Given the description of an element on the screen output the (x, y) to click on. 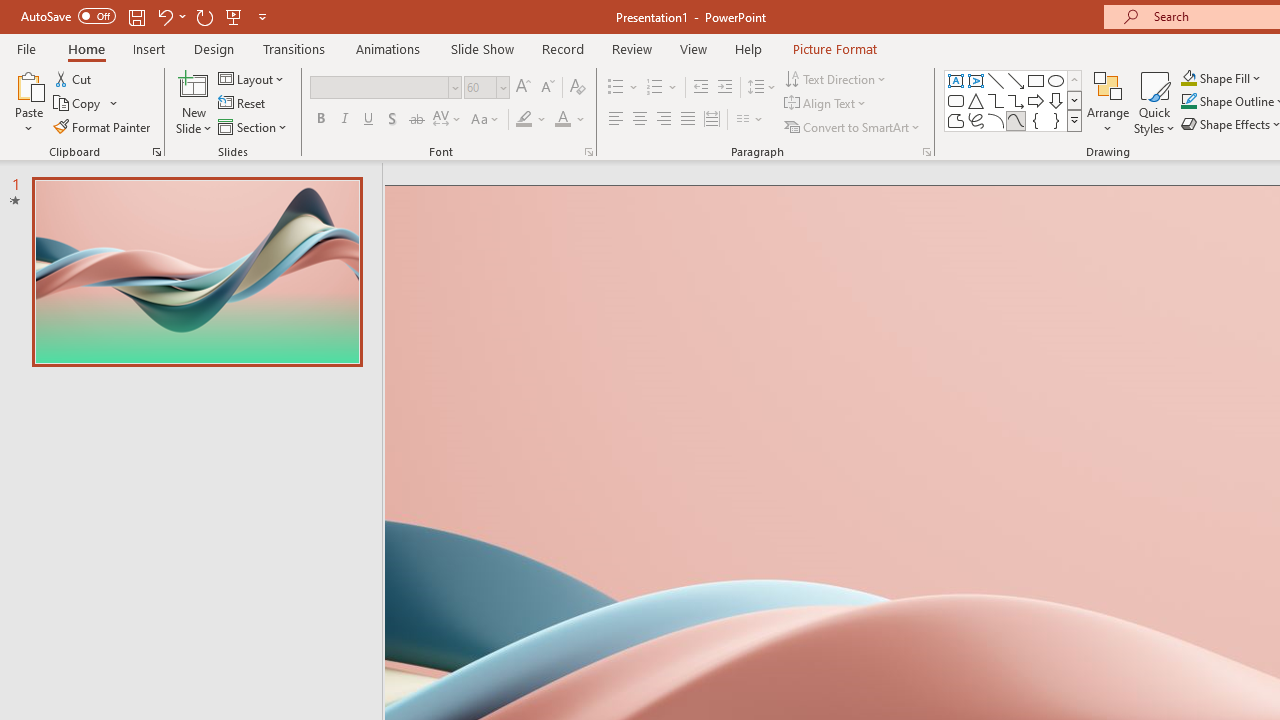
Picture Format (834, 48)
